Given the description of an element on the screen output the (x, y) to click on. 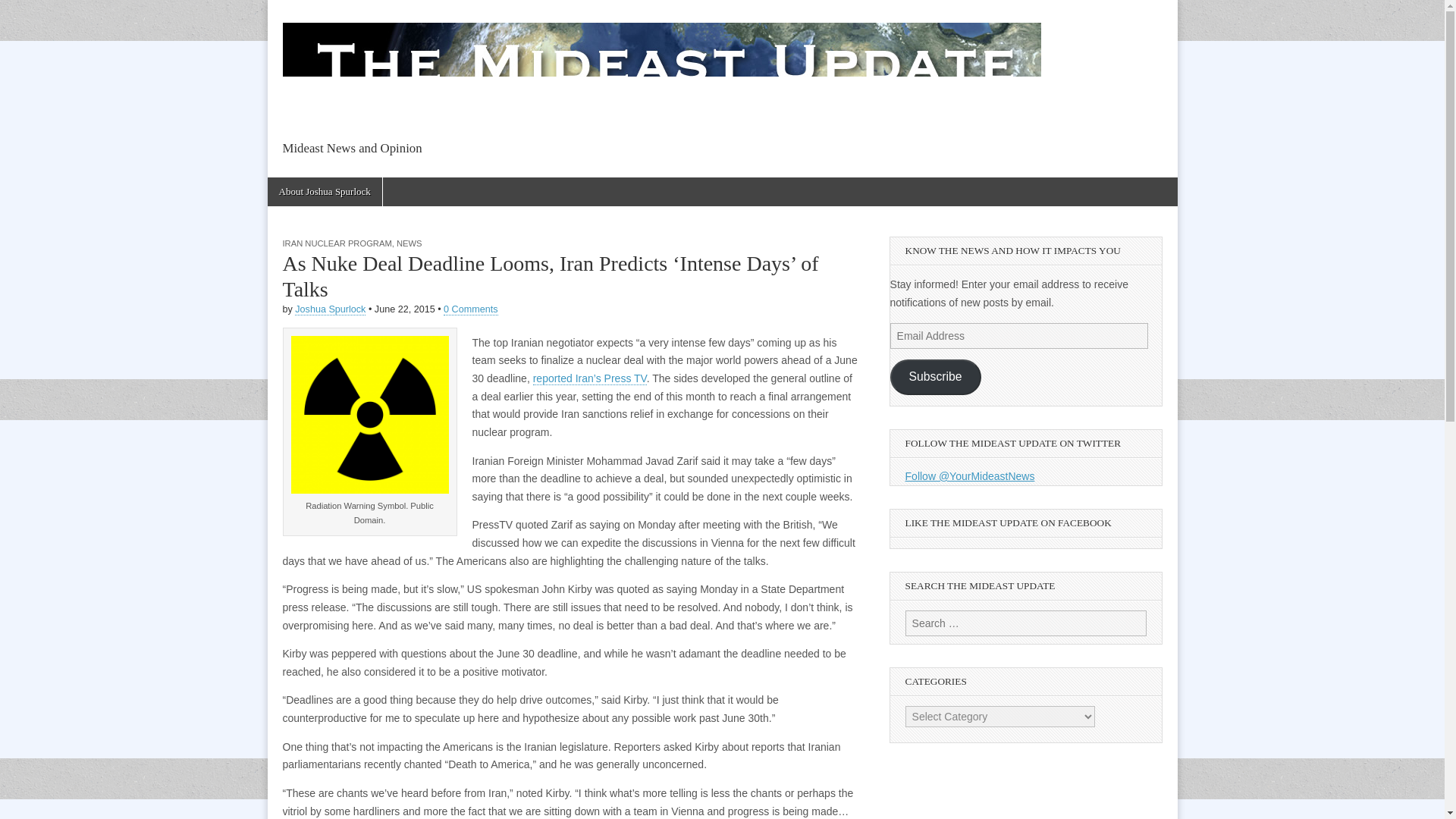
The Mideast Update (660, 71)
About Joshua Spurlock (323, 191)
Search (23, 12)
NEWS (409, 243)
Joshua Spurlock (330, 309)
Posts by Joshua Spurlock (330, 309)
Subscribe (935, 376)
IRAN NUCLEAR PROGRAM (336, 243)
The Mideast Update (430, 182)
The Mideast Update (430, 182)
0 Comments (470, 309)
